Given the description of an element on the screen output the (x, y) to click on. 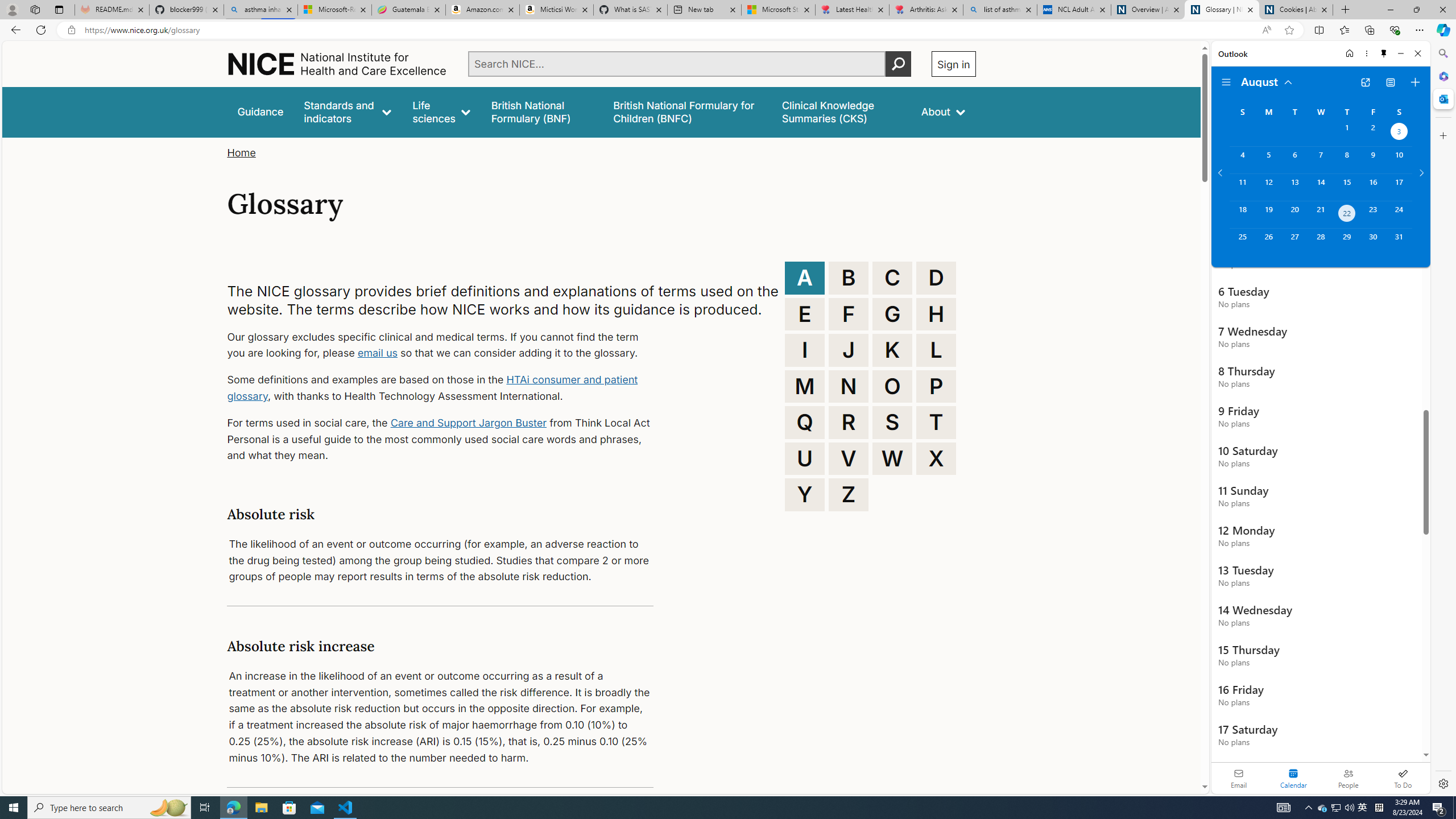
Y (804, 494)
Cookies | About | NICE (1295, 9)
Email (1238, 777)
Q (804, 422)
R (848, 422)
Tuesday, August 27, 2024.  (1294, 241)
I (804, 350)
